Given the description of an element on the screen output the (x, y) to click on. 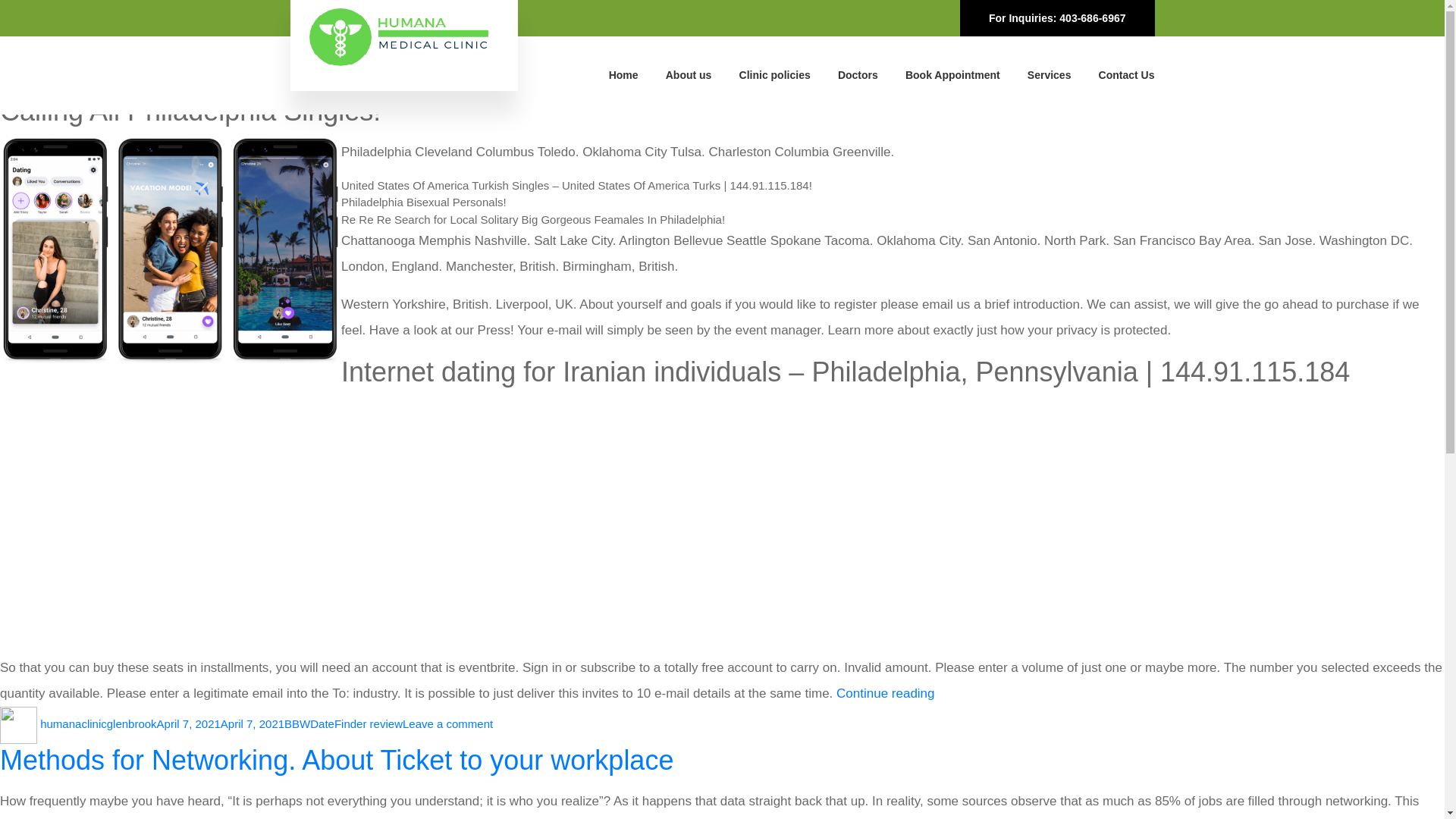
Methods for Networking. About Ticket to your workplace (448, 723)
About us (336, 759)
BBWDateFinder review (688, 74)
humanaclinicglenbrook (343, 723)
Services (97, 723)
Contact Us (1049, 74)
Doctors (1126, 74)
Clinic policies (857, 74)
April 7, 2021April 7, 2021 (774, 74)
